Given the description of an element on the screen output the (x, y) to click on. 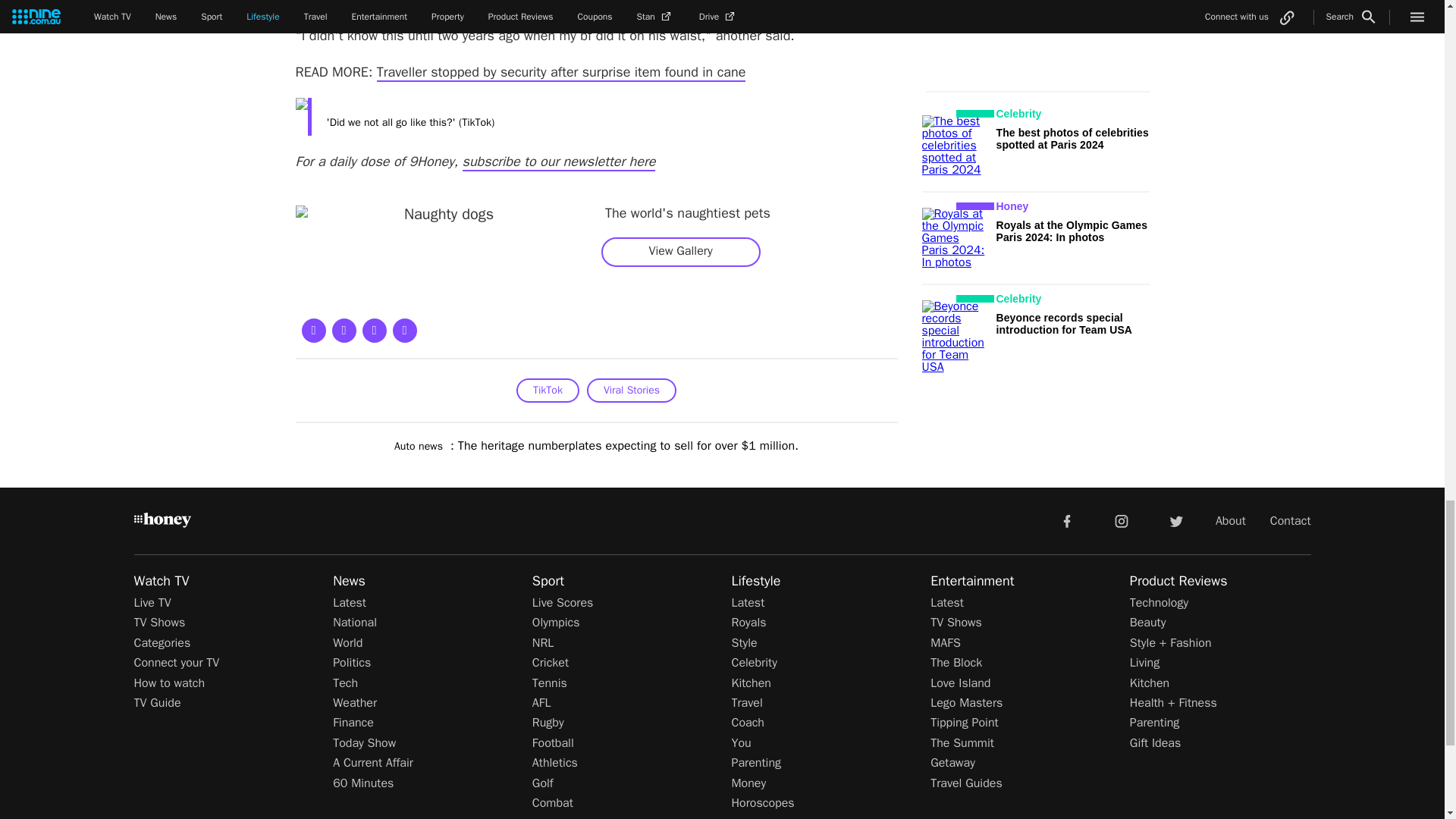
TikTok (547, 390)
Viral Stories (631, 390)
facebook (1066, 520)
twitter (1175, 520)
instagram (1121, 520)
View Gallery (680, 251)
subscribe to our newsletter here (559, 162)
subscribe to our newsletter here (559, 162)
